Given the description of an element on the screen output the (x, y) to click on. 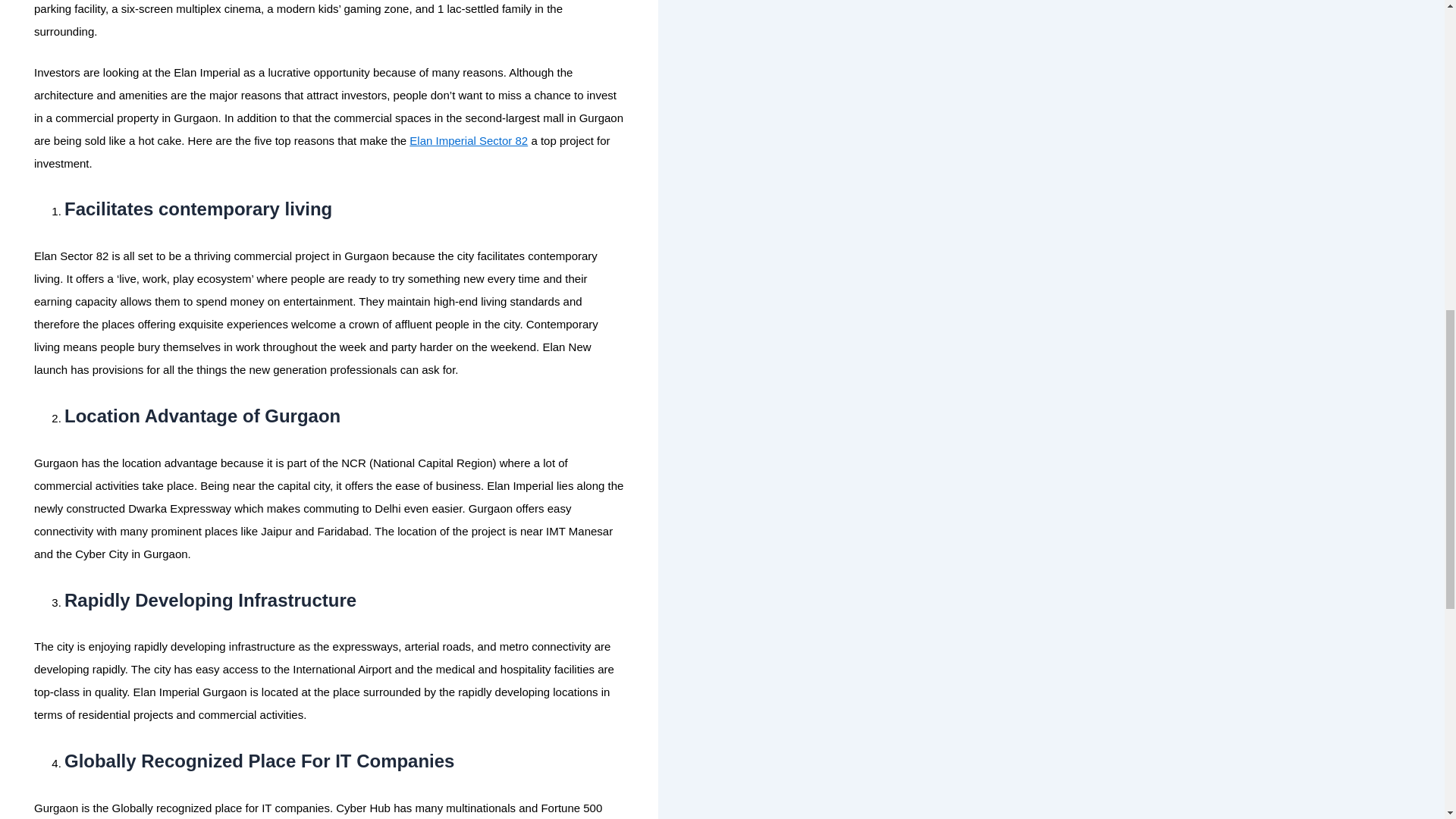
Elan Imperial Sector 82 (468, 139)
